Given the description of an element on the screen output the (x, y) to click on. 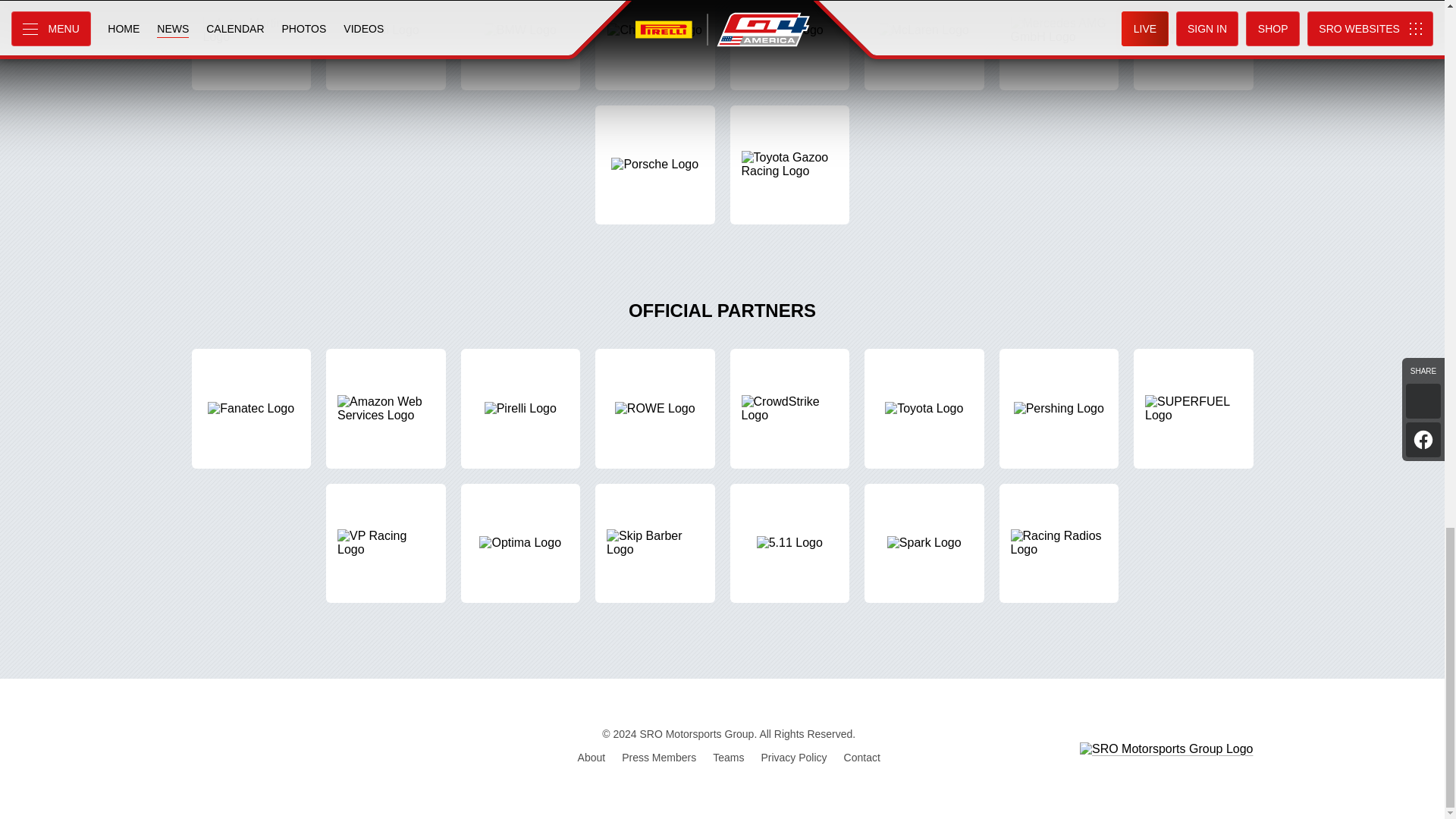
Ford (788, 45)
Toyota Gazoo Racing (788, 165)
ROWE (654, 408)
VP Racing (385, 543)
Optima (520, 543)
Amazon Web Services (385, 408)
Toyota (924, 408)
Pershing (1058, 408)
CrowdStrike (788, 408)
Audi (385, 45)
